Given the description of an element on the screen output the (x, y) to click on. 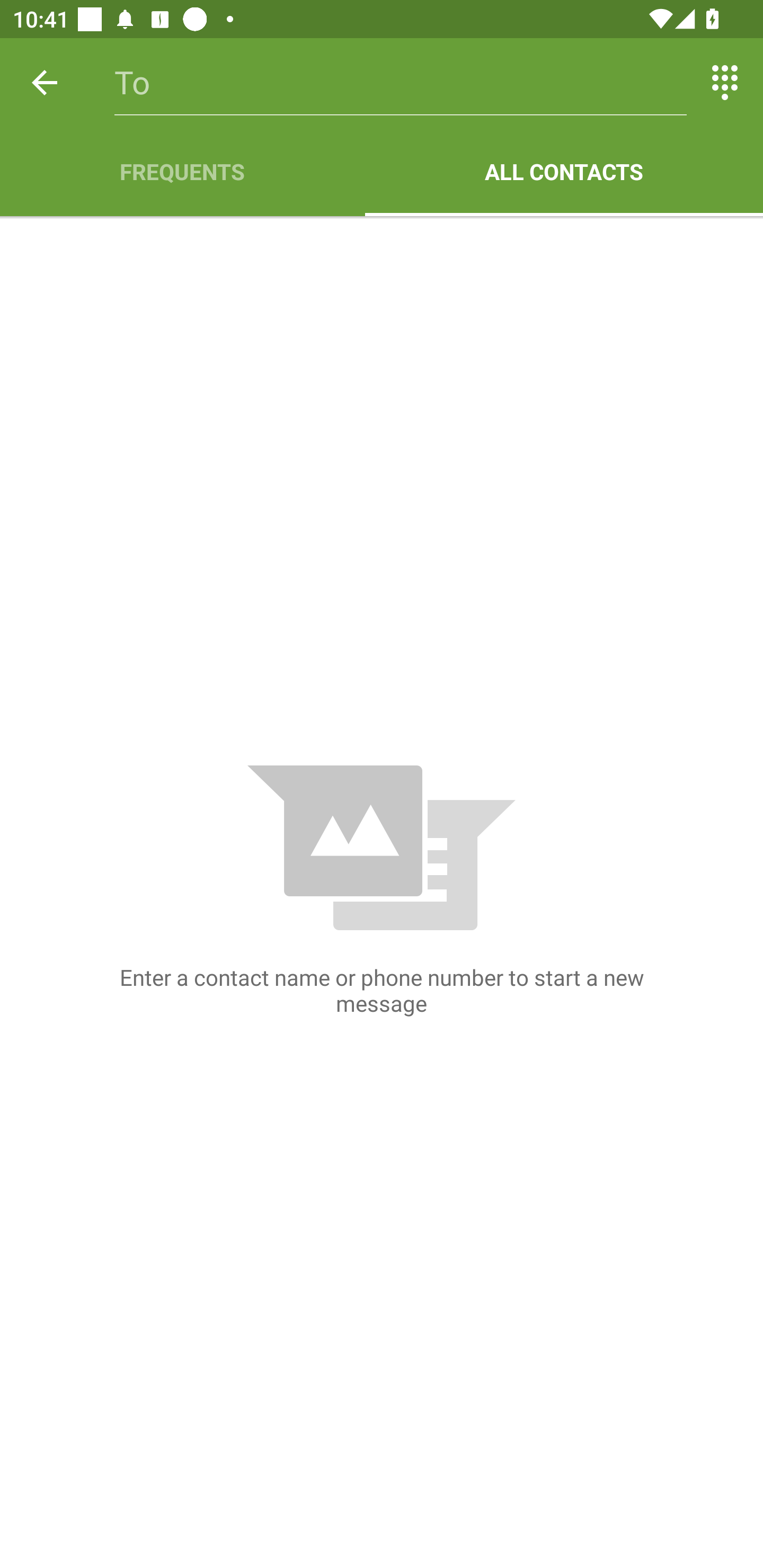
Back (44, 82)
Switch between entering text and numbers (724, 81)
To (400, 82)
FREQUENTS (182, 171)
ALL CONTACTS (563, 171)
